Given the description of an element on the screen output the (x, y) to click on. 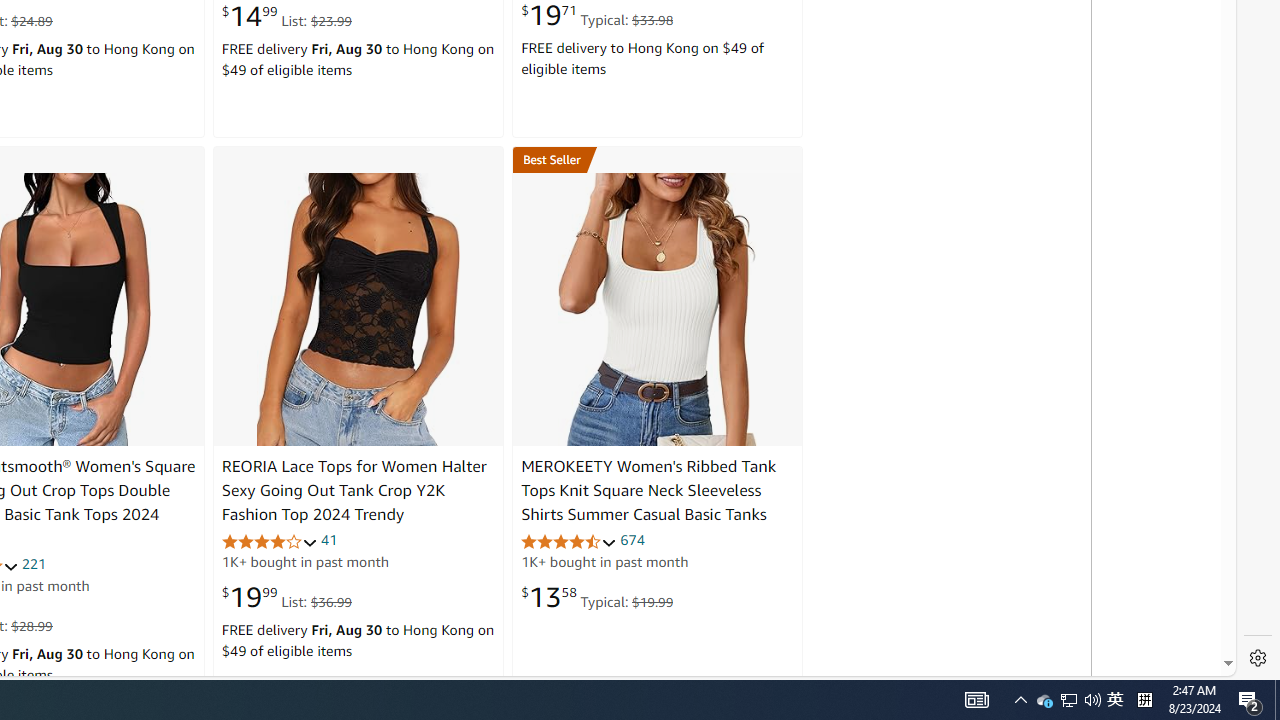
4.5 out of 5 stars (569, 541)
41 (328, 539)
674 (632, 539)
221 (33, 563)
$19.99 List: $36.99 (286, 596)
$13.58 Typical: $19.99 (597, 596)
4.0 out of 5 stars (269, 541)
